Given the description of an element on the screen output the (x, y) to click on. 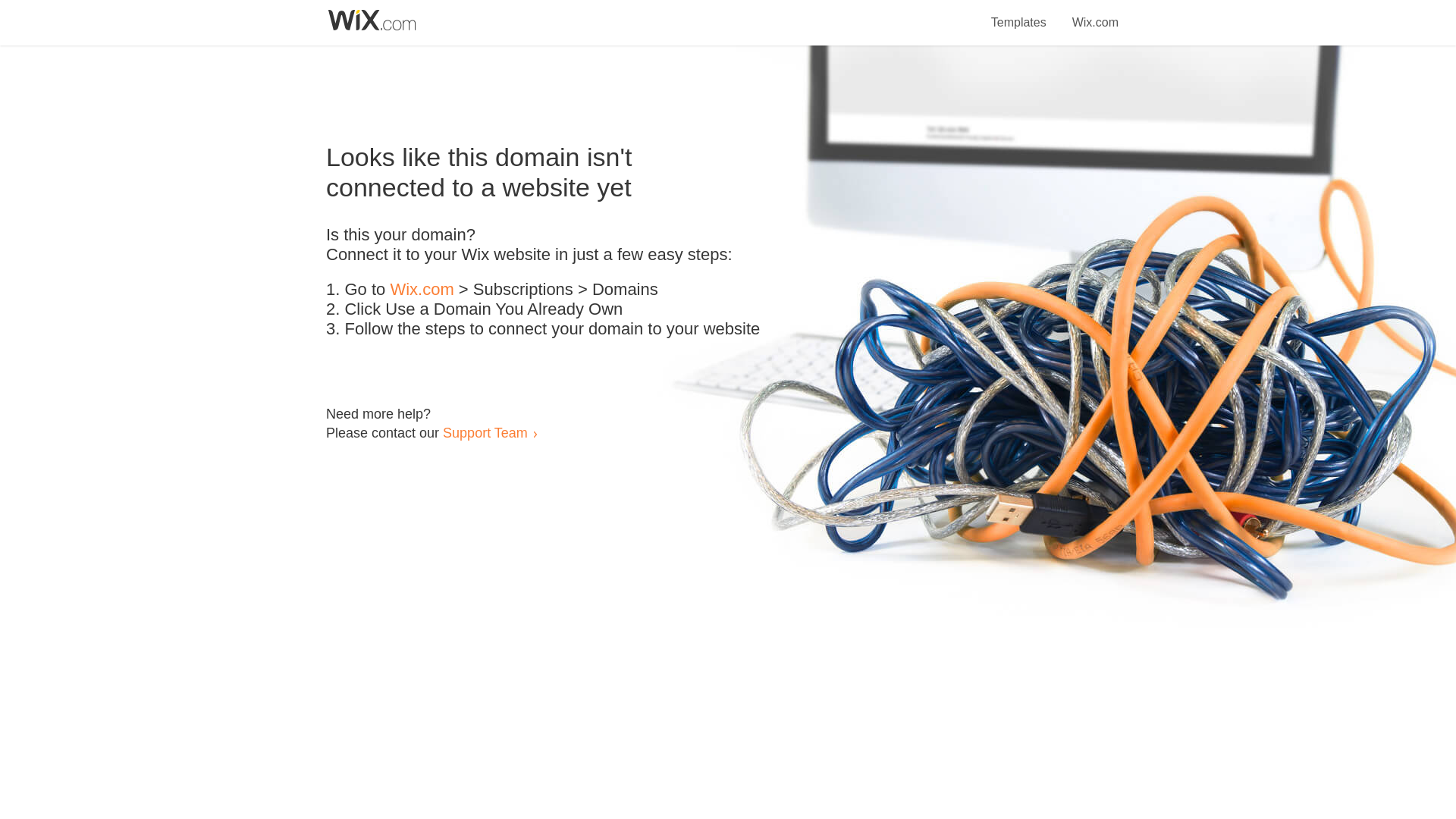
Wix.com (1095, 14)
Templates (1018, 14)
Support Team (484, 432)
Wix.com (421, 289)
